Given the description of an element on the screen output the (x, y) to click on. 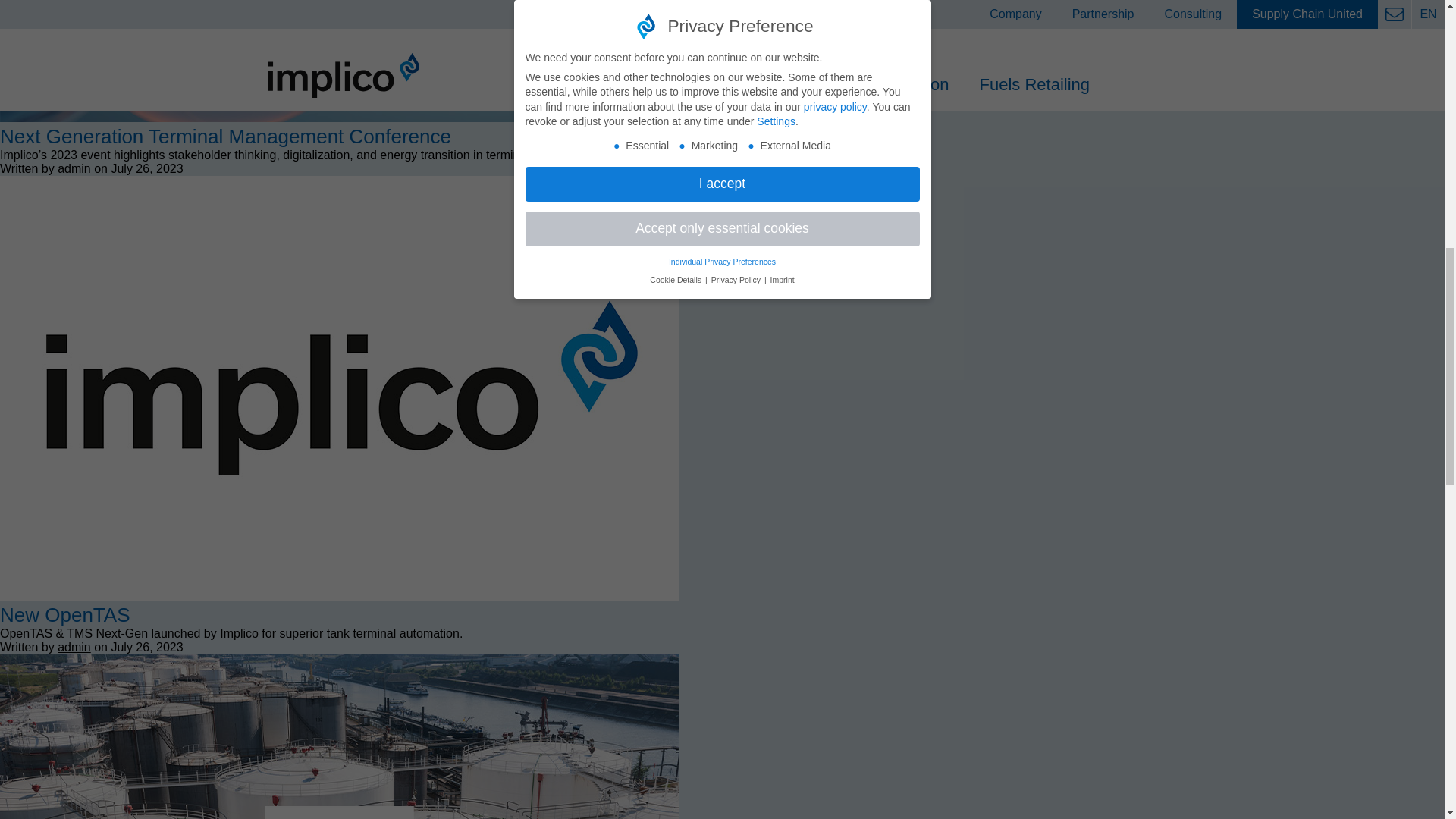
New OpenTAS (339, 595)
Permalink to Next Generation Terminal Management Conference (225, 136)
Next Generation Terminal Management Conference (339, 117)
Posts by admin (74, 168)
Posts by admin (74, 646)
Permalink to New OpenTAS (64, 614)
